Given the description of an element on the screen output the (x, y) to click on. 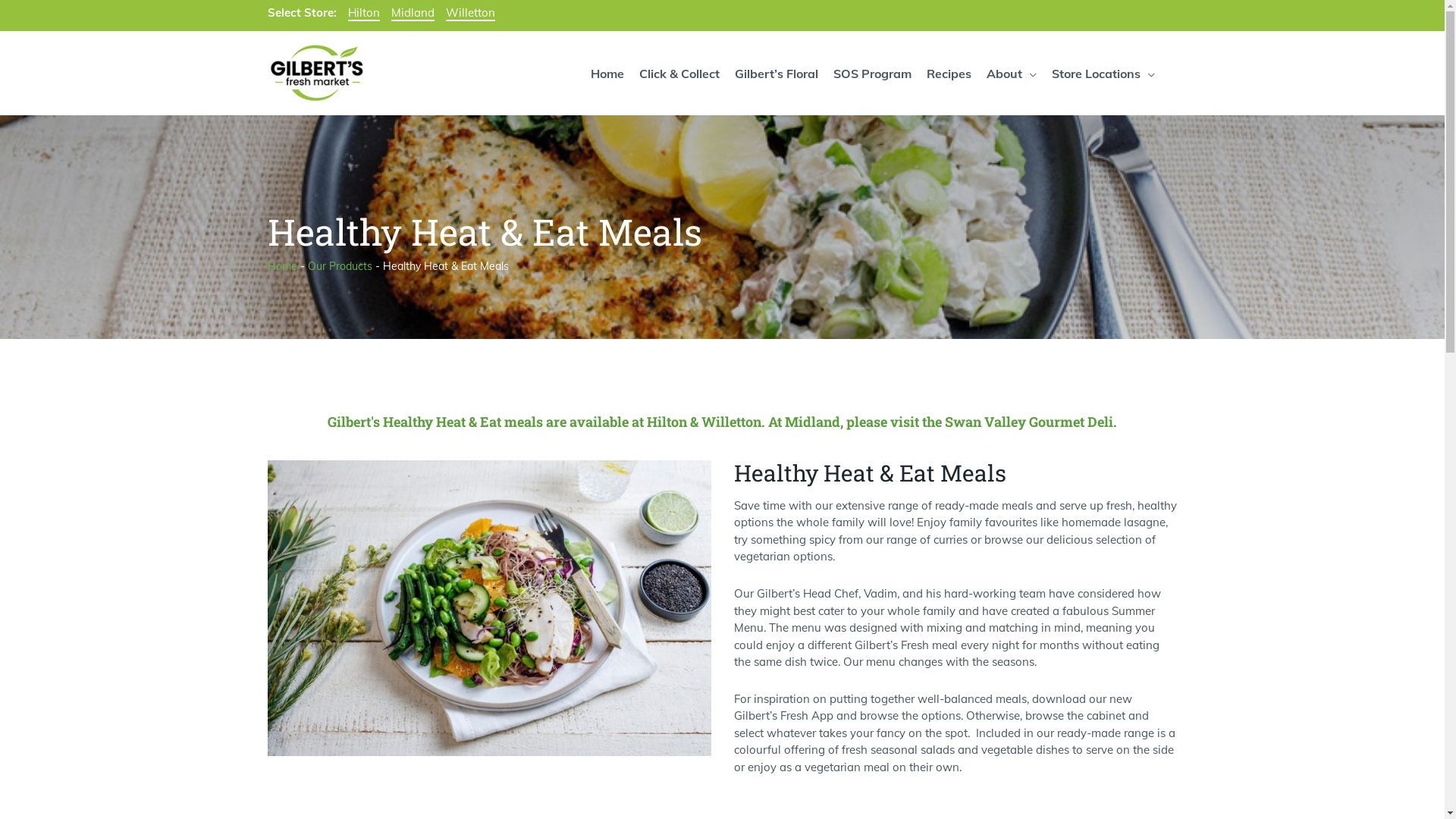
Our Products Element type: text (339, 266)
Store Locations Element type: text (1102, 72)
Recipes Element type: text (949, 72)
Click & Collect Element type: text (678, 72)
About Element type: text (1010, 72)
Home Element type: text (281, 266)
Midland Element type: text (412, 13)
Hilton Element type: text (363, 13)
Home Element type: text (606, 72)
SOS Program Element type: text (871, 72)
Willetton Element type: text (470, 13)
